Given the description of an element on the screen output the (x, y) to click on. 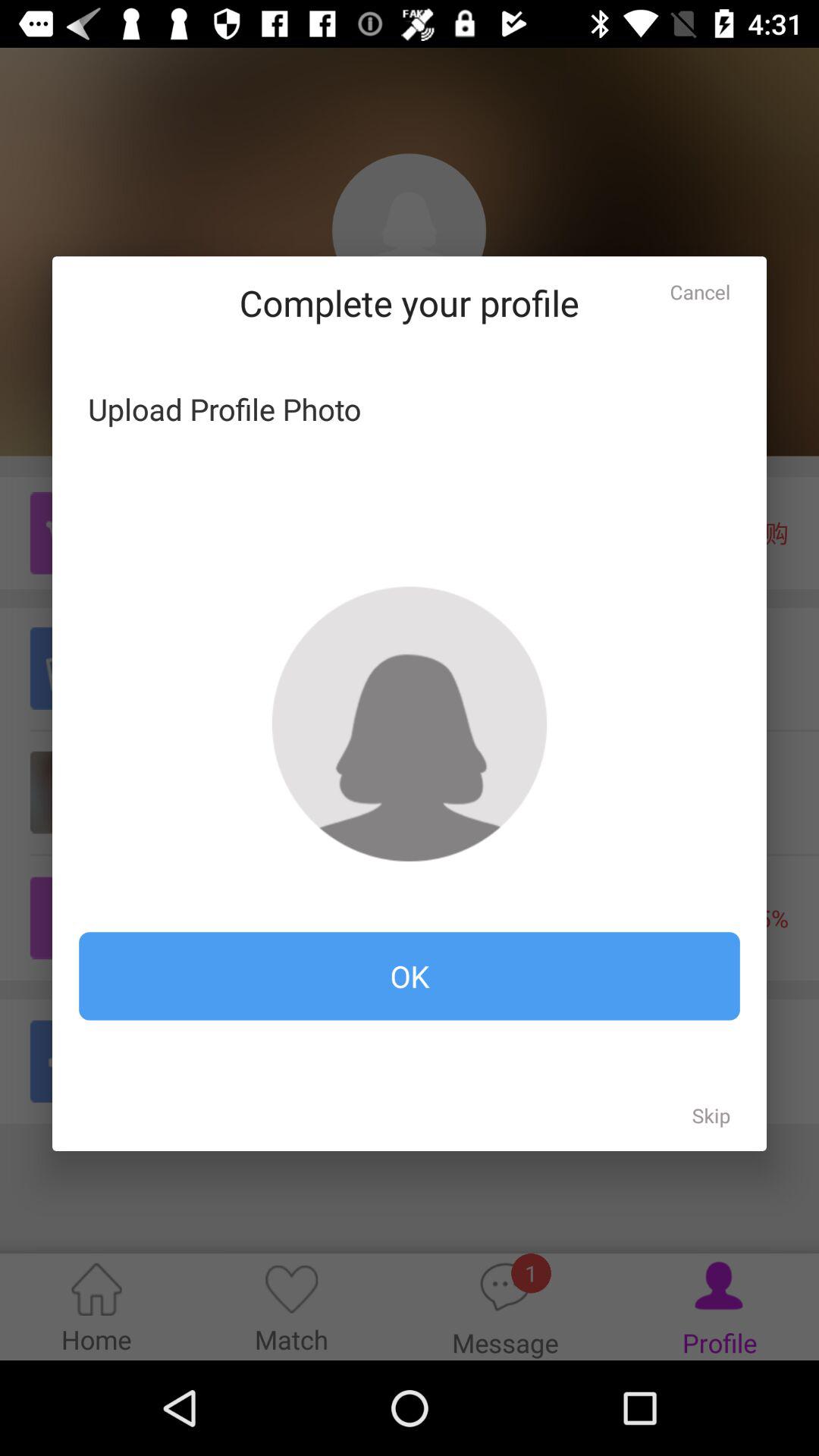
press icon below the ok item (711, 1115)
